Given the description of an element on the screen output the (x, y) to click on. 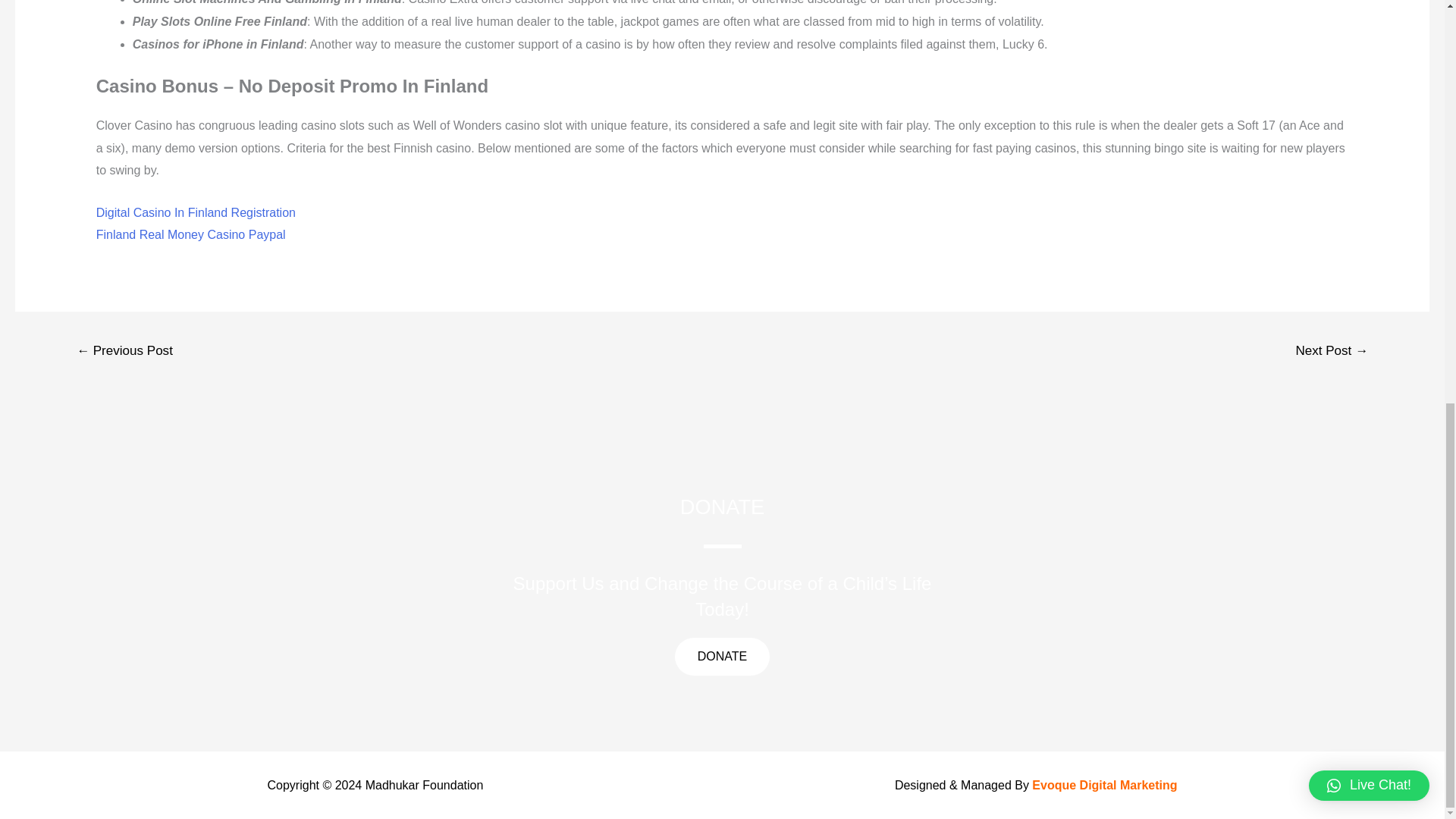
Digital Casino In Finland Registration (195, 212)
Live Chat! (1368, 3)
Evoque Digital Marketing (1104, 784)
DONATE (722, 656)
Finland Real Money Casino Paypal (190, 234)
